Given the description of an element on the screen output the (x, y) to click on. 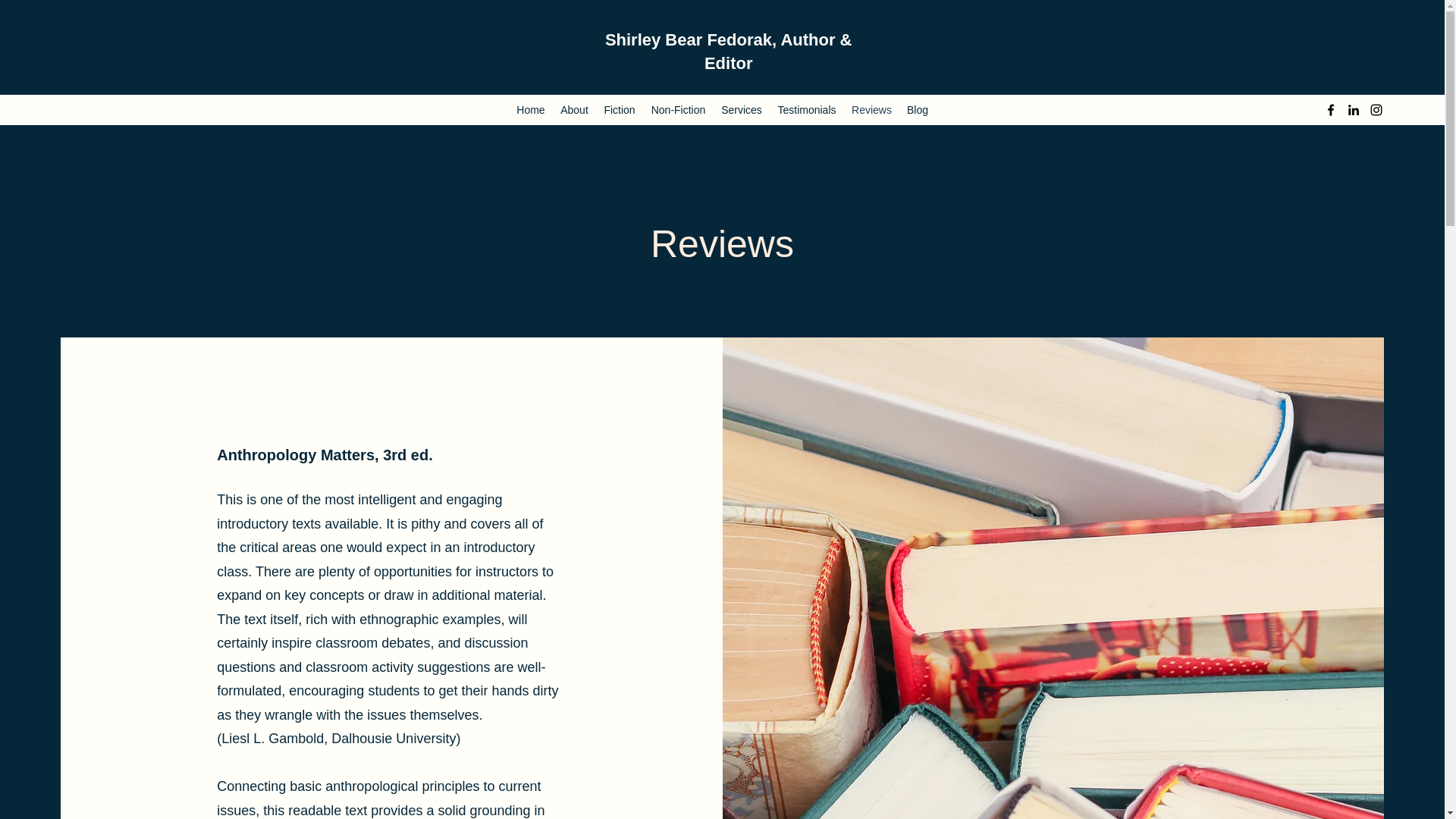
Fiction (619, 109)
Home (530, 109)
Reviews (871, 109)
Services (741, 109)
Blog (917, 109)
Testimonials (807, 109)
Non-Fiction (678, 109)
About (574, 109)
